Given the description of an element on the screen output the (x, y) to click on. 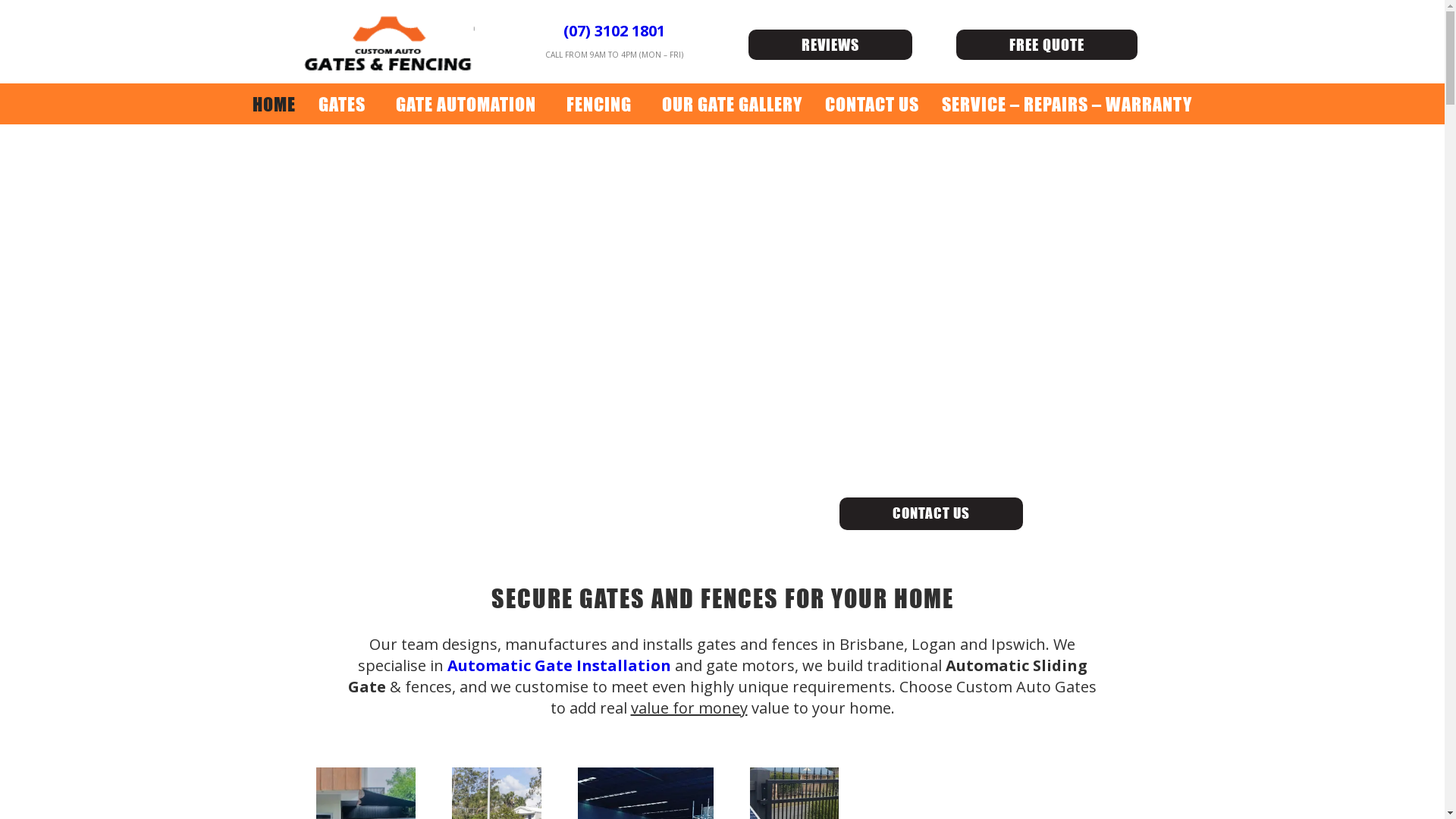
(07) 3102 1801 Element type: text (614, 30)
HOME Element type: text (274, 103)
FENCING Element type: text (602, 103)
CONTACT US Element type: text (871, 103)
GATES Element type: text (345, 103)
Automatic Gate Installation Element type: text (559, 665)
FREE QUOTE Element type: text (1045, 43)
REVIEWS Element type: text (830, 43)
CONTACT US Element type: text (930, 513)
GATE AUTOMATION Element type: text (469, 103)
OUR GATE GALLERY Element type: text (731, 103)
